Given the description of an element on the screen output the (x, y) to click on. 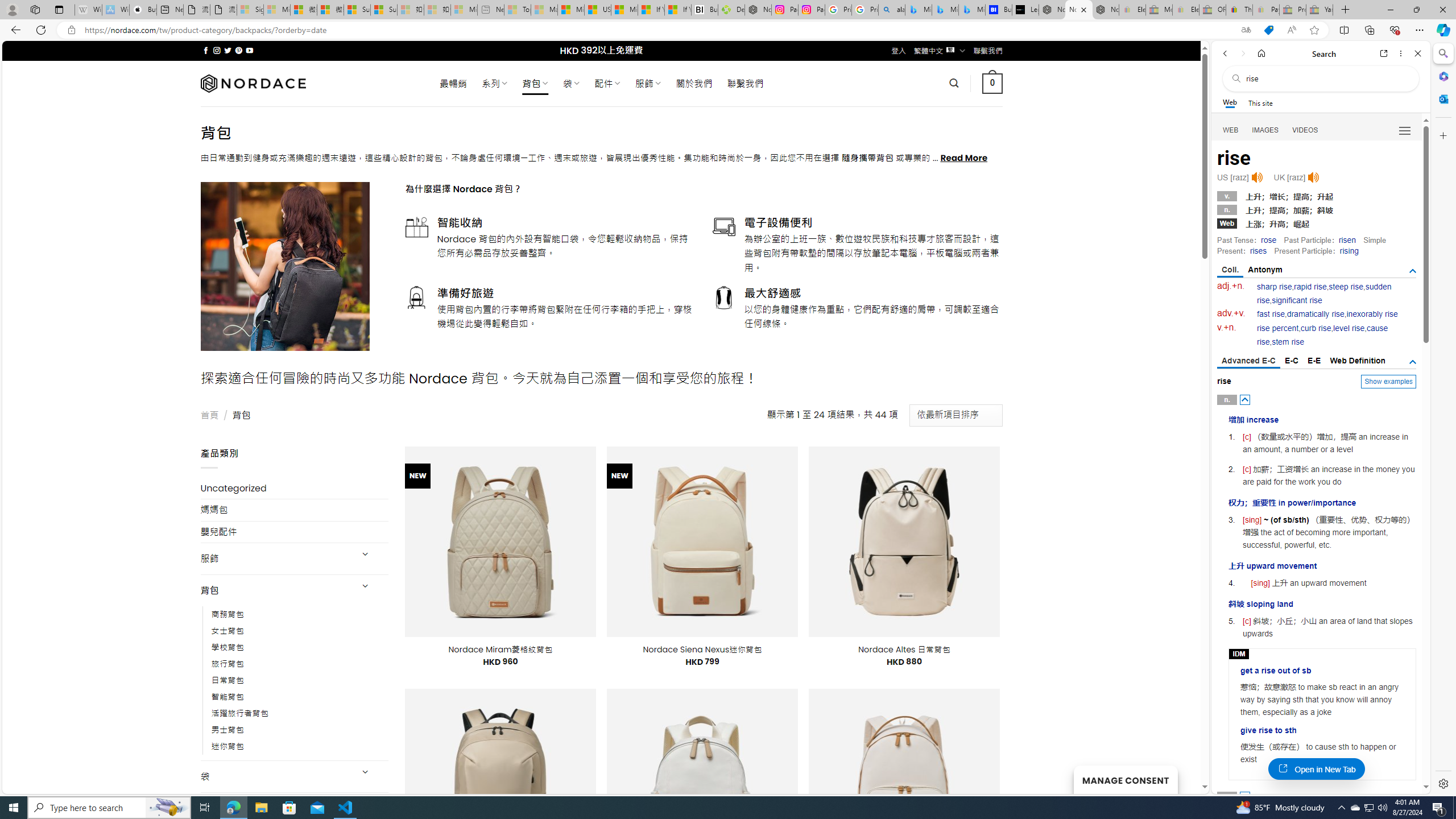
Follow on Facebook (205, 50)
AutomationID: posbtn_1 (1245, 796)
Threats and offensive language policy | eBay (1239, 9)
Outlook (1442, 98)
Show translate options (1245, 29)
Coll. (1230, 270)
Nordace (252, 83)
